Given the description of an element on the screen output the (x, y) to click on. 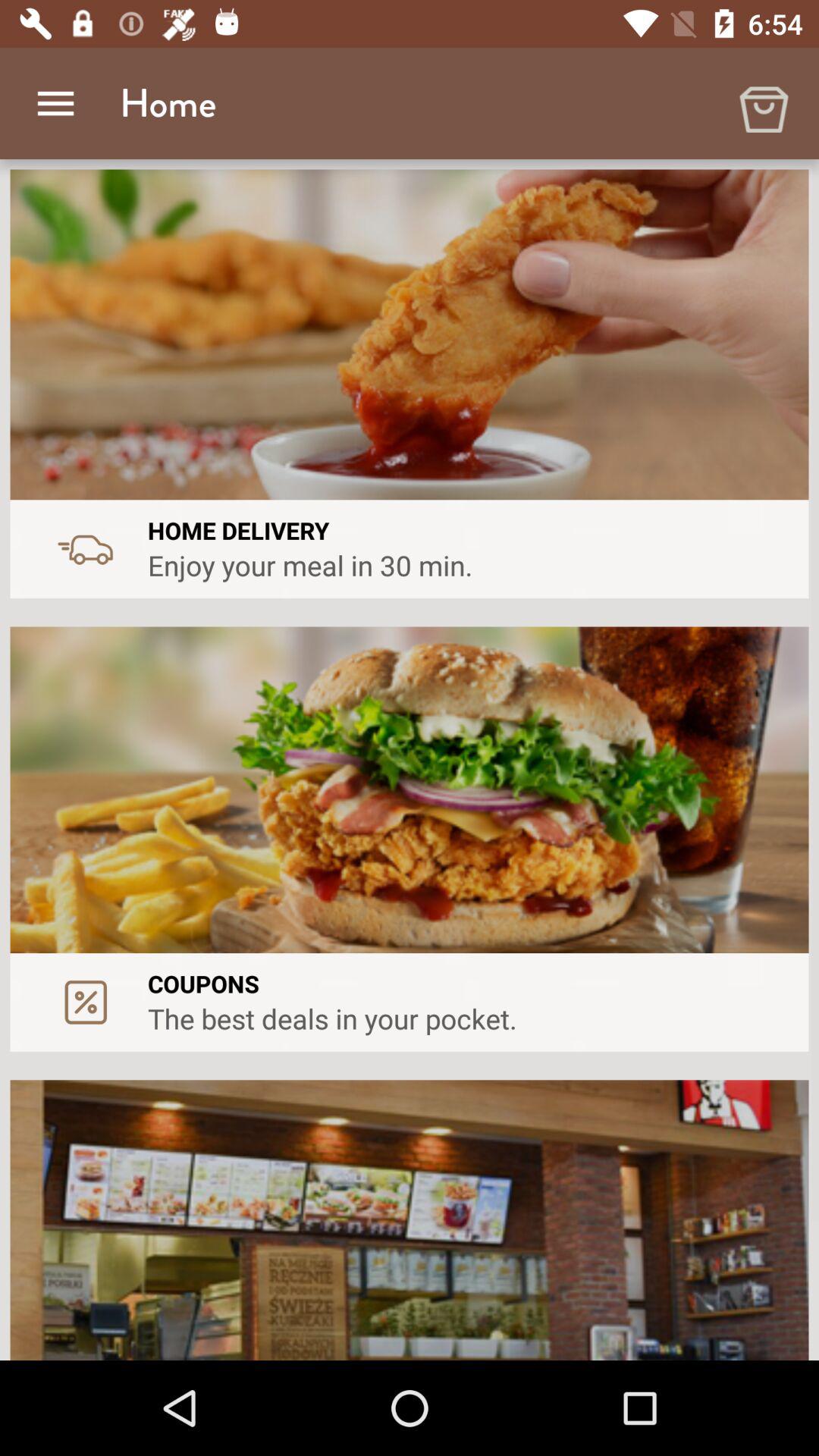
tap item to the right of home (763, 103)
